Given the description of an element on the screen output the (x, y) to click on. 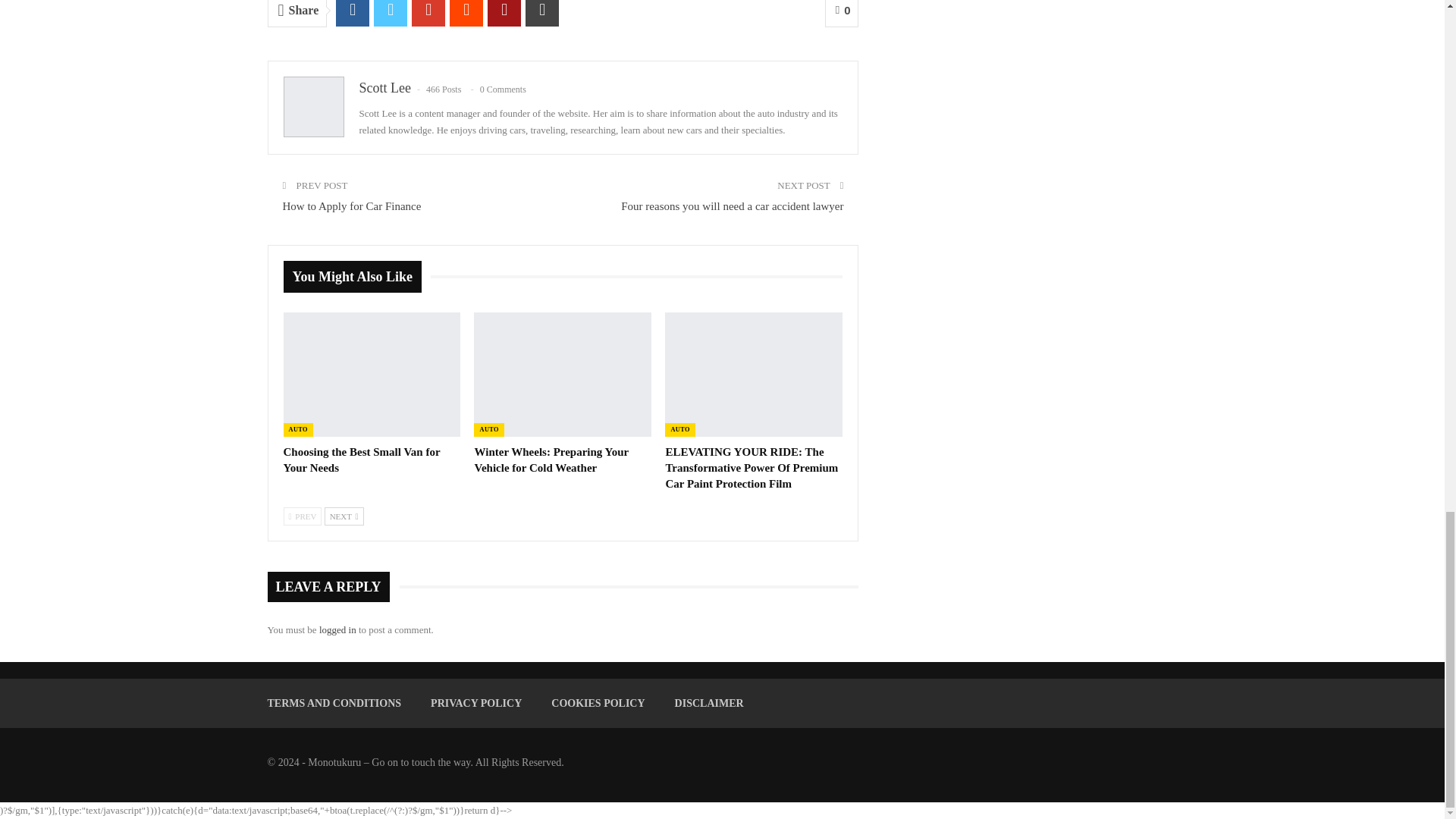
Choosing the Best Small Van for Your Needs (362, 459)
Previous (302, 515)
Winter Wheels: Preparing Your Vehicle for Cold Weather (550, 459)
0 (842, 13)
Winter Wheels: Preparing Your Vehicle for Cold Weather (562, 374)
Choosing the Best Small Van for Your Needs (372, 374)
Next (344, 515)
